Given the description of an element on the screen output the (x, y) to click on. 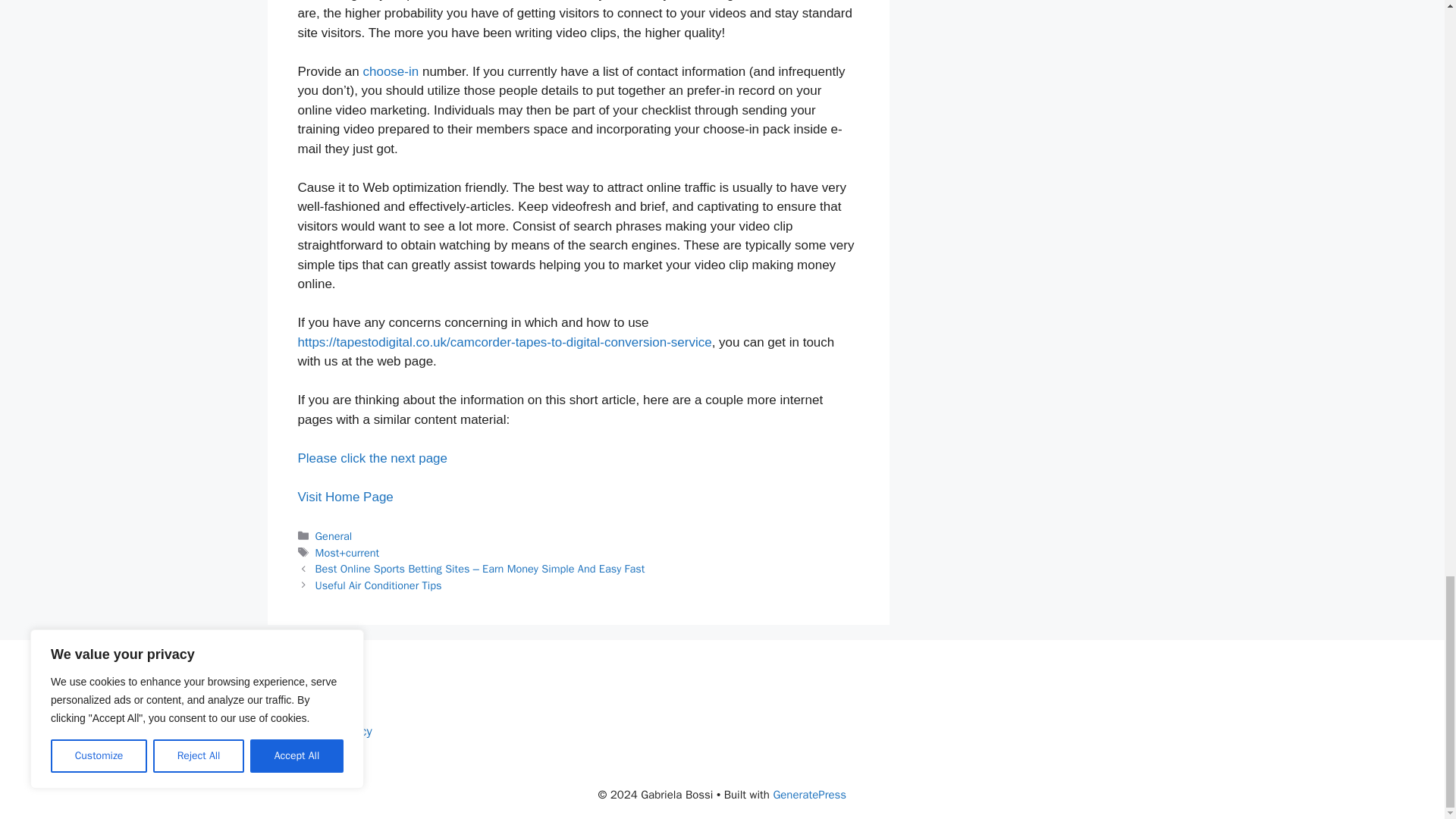
Useful Air Conditioner Tips (378, 585)
Please click the next page (371, 458)
Visit Home Page (345, 496)
General (333, 535)
choose-in (390, 71)
